Given the description of an element on the screen output the (x, y) to click on. 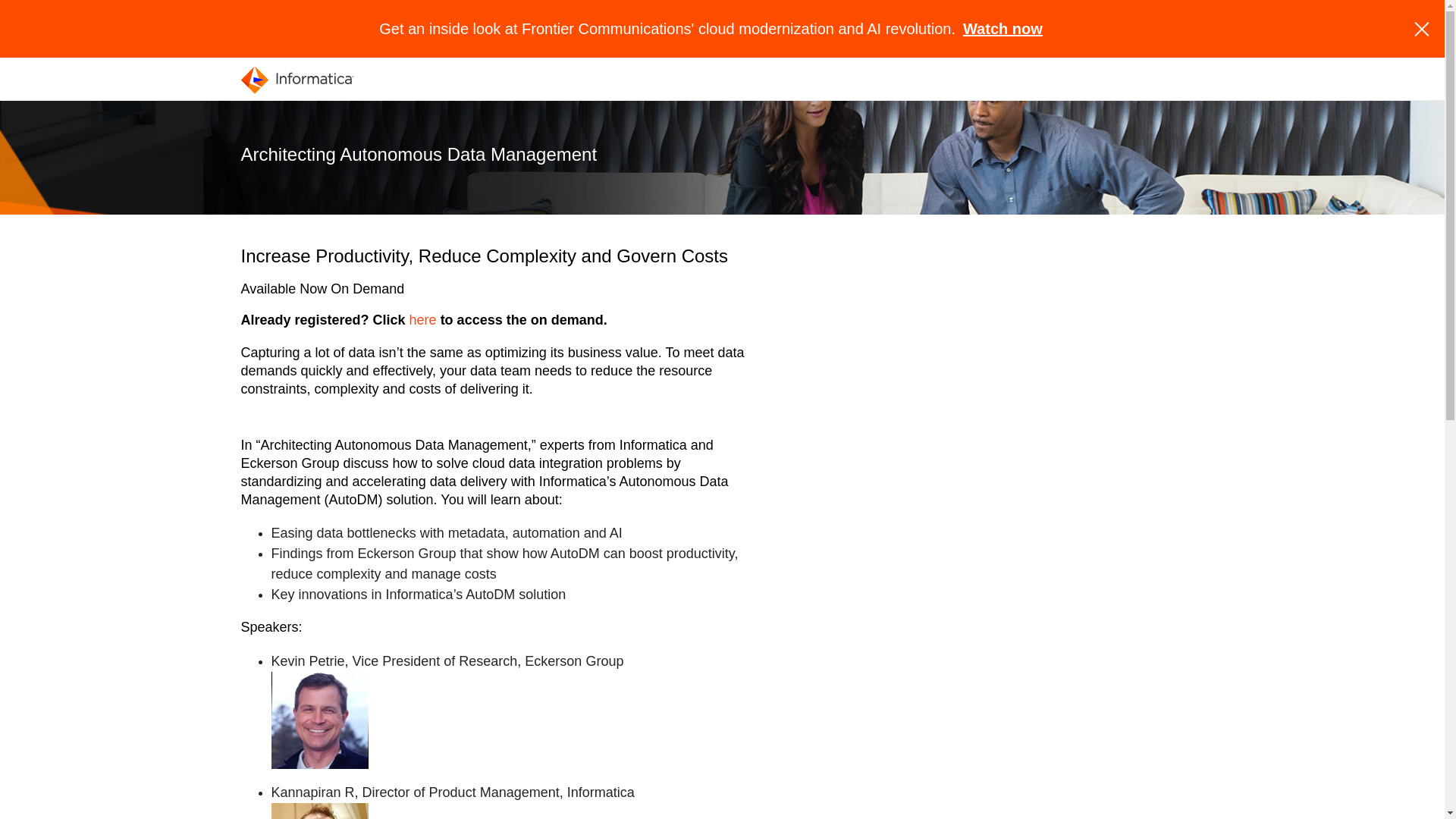
Watch now (1002, 28)
here (422, 319)
